Given the description of an element on the screen output the (x, y) to click on. 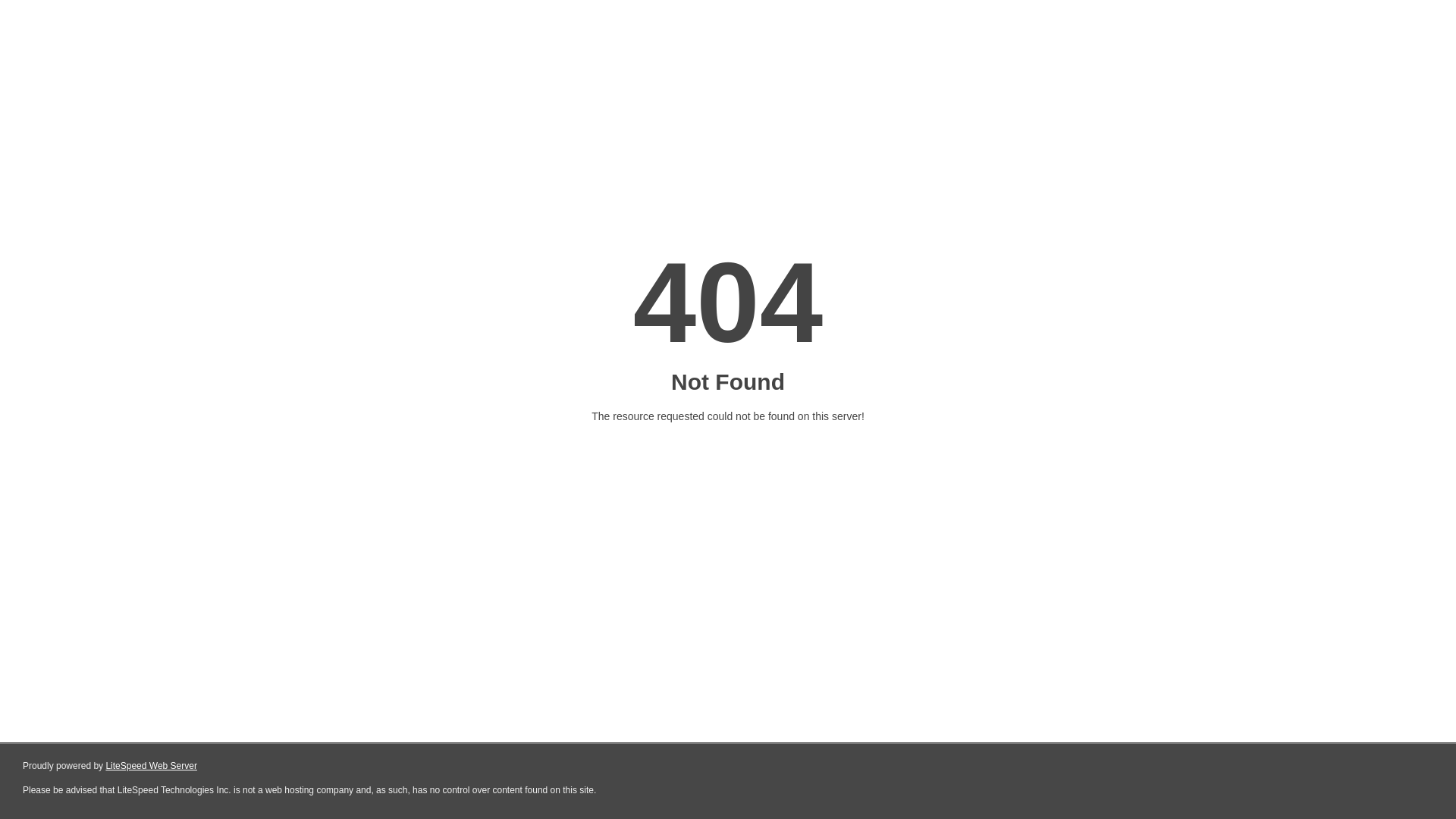
LiteSpeed Web Server Element type: text (151, 765)
